Given the description of an element on the screen output the (x, y) to click on. 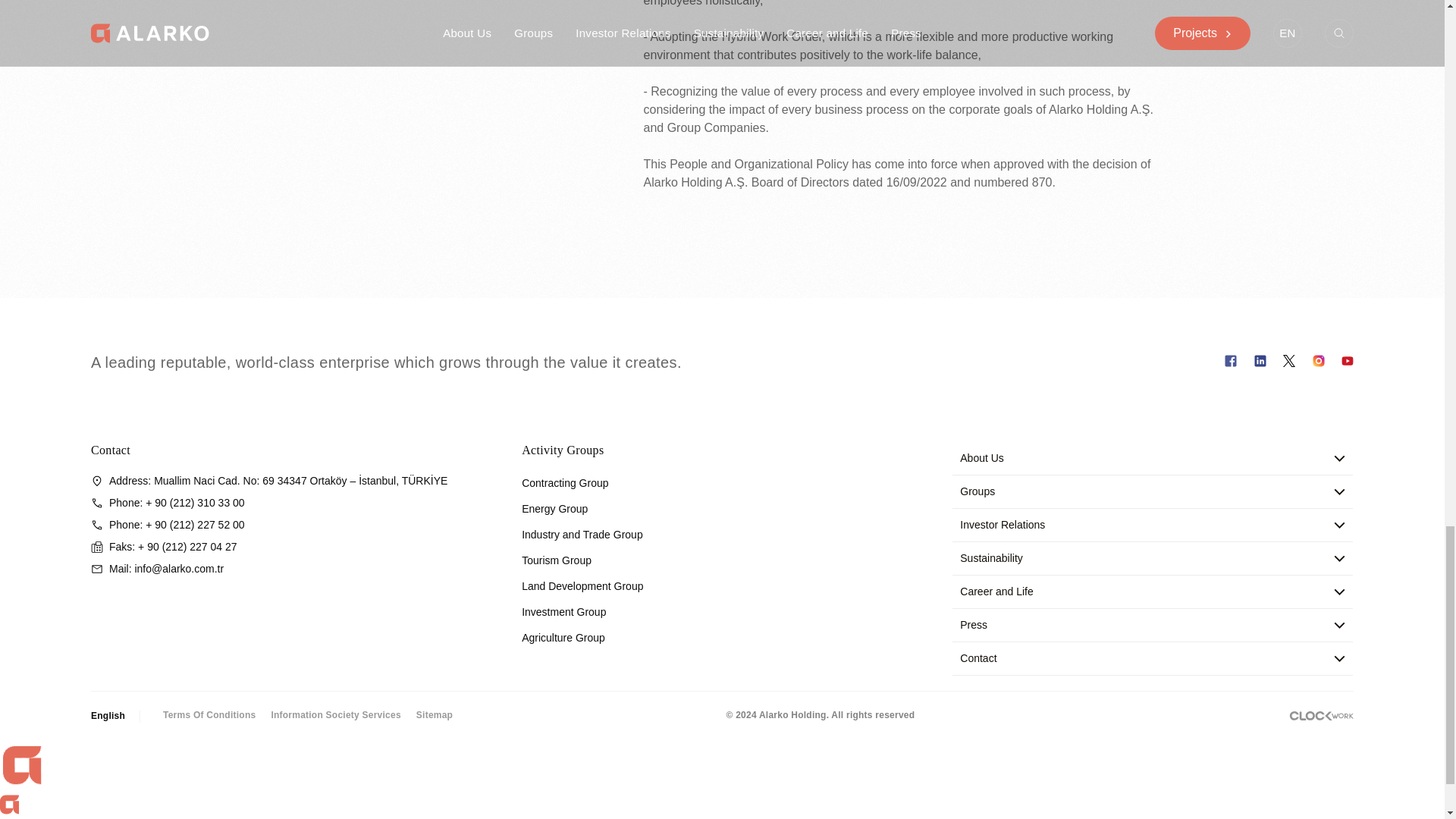
Land Development Group (582, 585)
Industry and Trade Group (582, 534)
Tourism Group (556, 560)
Agriculture Group (563, 637)
Investment Group (563, 612)
Energy Group (554, 508)
Contracting Group (564, 482)
